Given the description of an element on the screen output the (x, y) to click on. 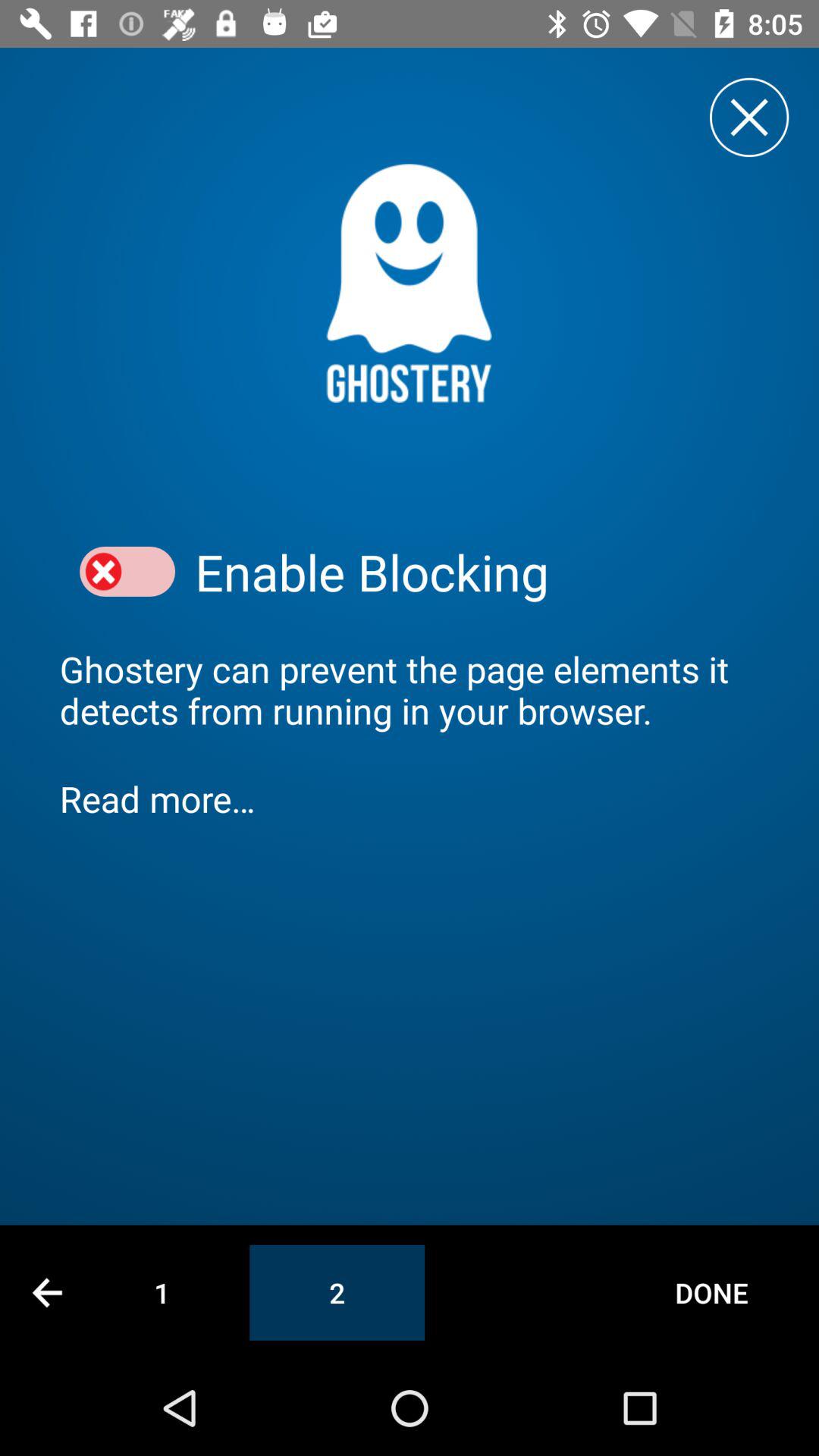
go to previous (46, 1292)
